Given the description of an element on the screen output the (x, y) to click on. 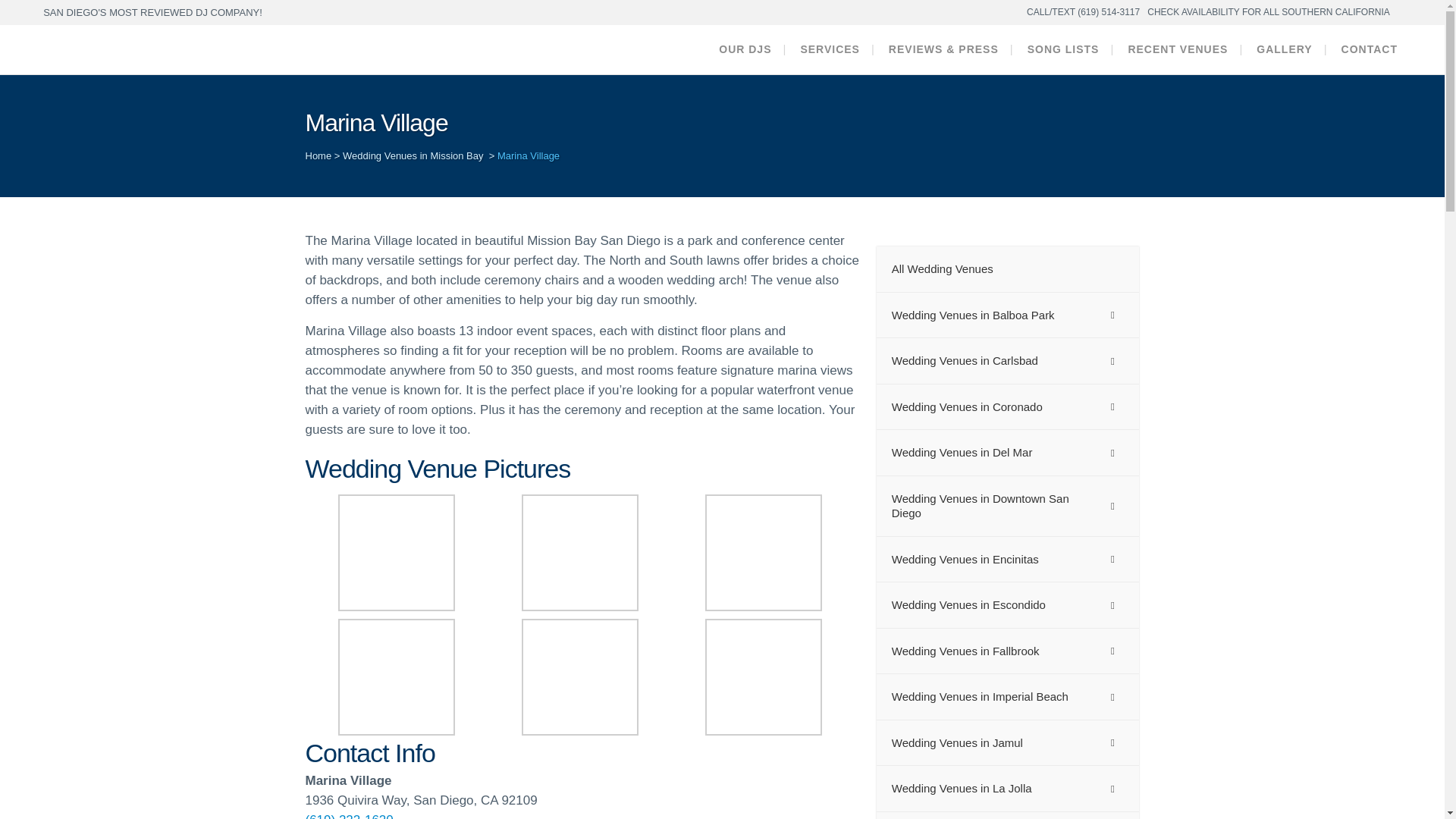
OUR DJS (745, 49)
GALLERY (1283, 49)
RECENT VENUES (1177, 49)
SONG LISTS (1063, 49)
CHECK AVAILABILITY FOR ALL SOUTHERN CALIFORNIA (1268, 12)
Call via Hangouts (348, 816)
SAN DIEGO'S MOST REVIEWED DJ COMPANY! (152, 12)
SERVICES (829, 49)
CONTACT (1368, 49)
